Given the description of an element on the screen output the (x, y) to click on. 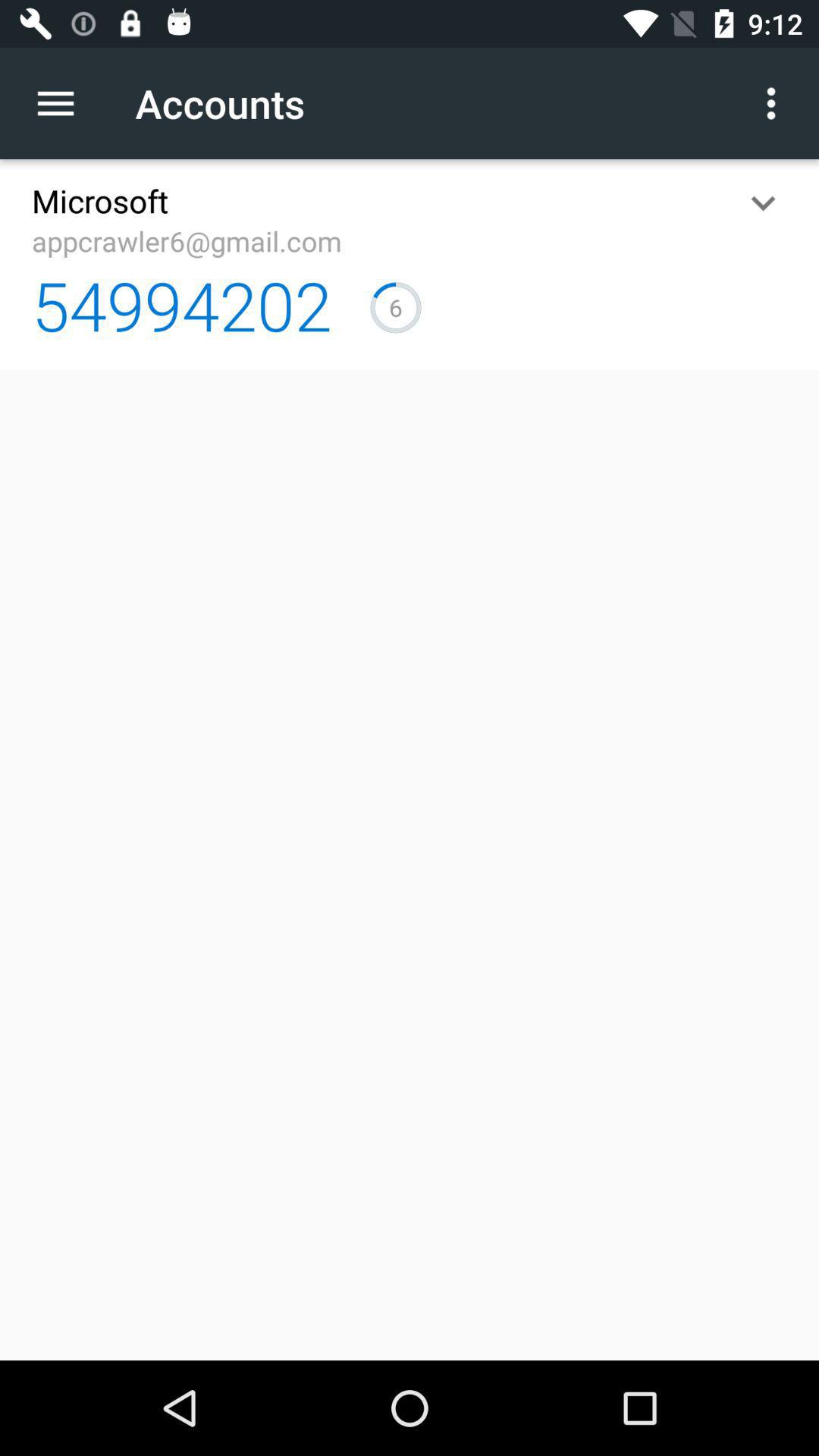
click app to the right of accounts icon (771, 103)
